Given the description of an element on the screen output the (x, y) to click on. 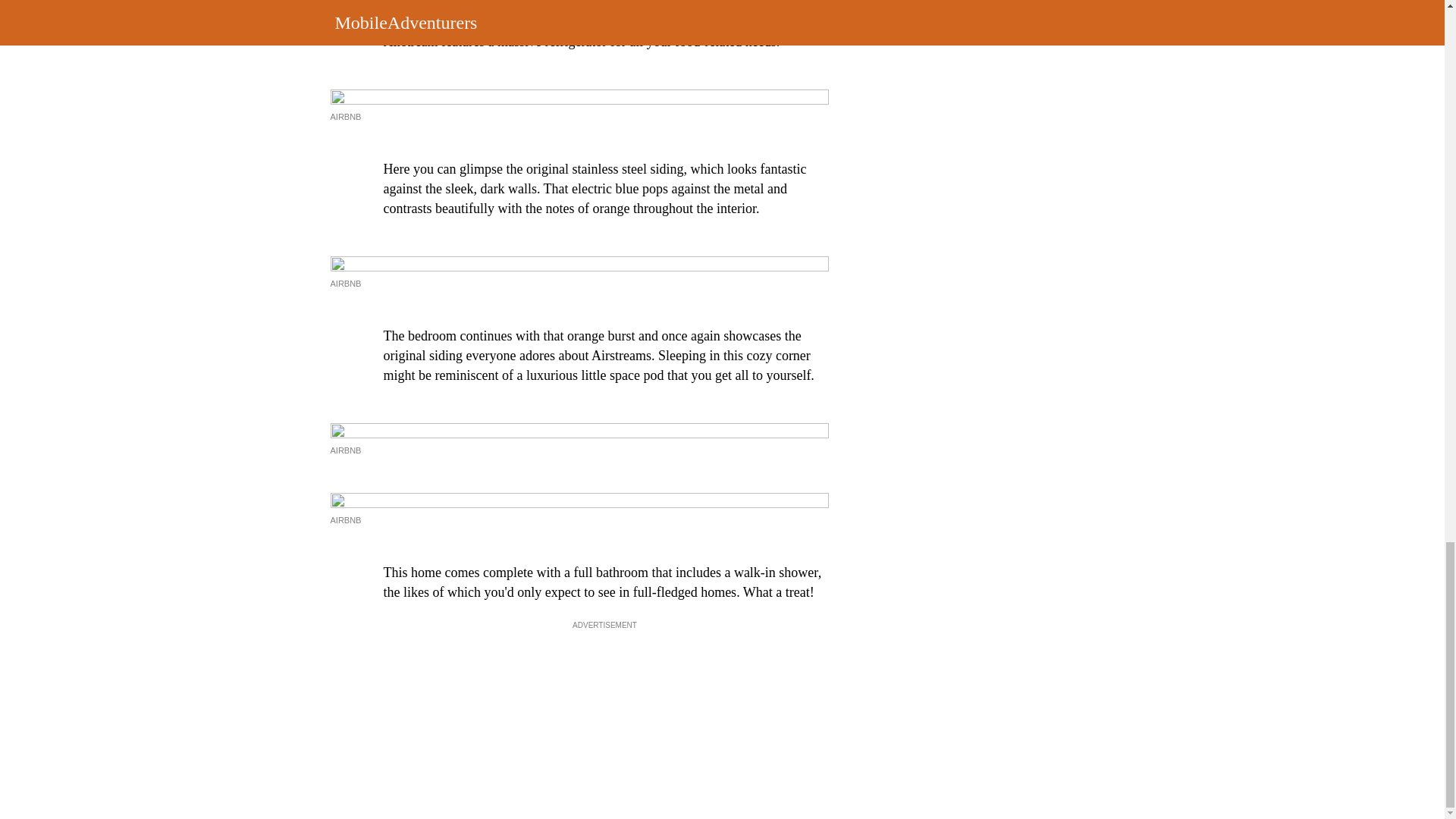
AIRBNB (345, 283)
AIRBNB (345, 116)
AIRBNB (345, 519)
AIRBNB (345, 450)
